Given the description of an element on the screen output the (x, y) to click on. 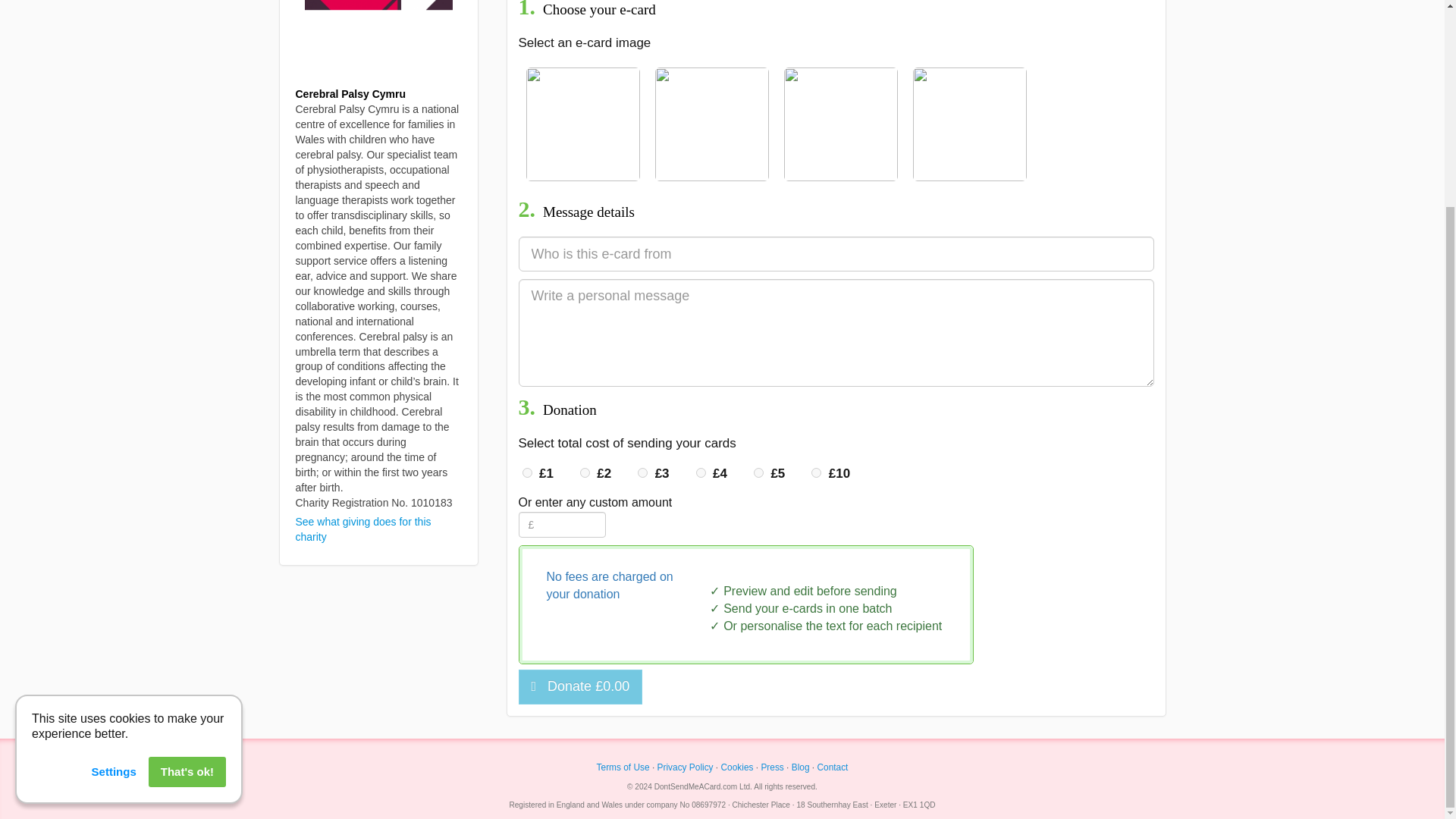
2 (584, 472)
1 (526, 472)
3 (642, 472)
10 (815, 472)
5 (758, 472)
4 (700, 472)
